Given the description of an element on the screen output the (x, y) to click on. 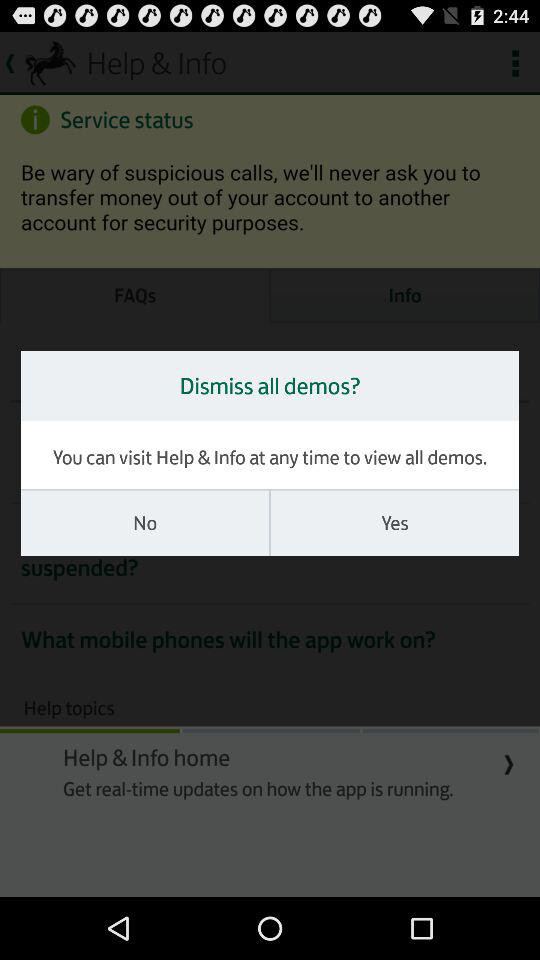
flip to no item (145, 523)
